Given the description of an element on the screen output the (x, y) to click on. 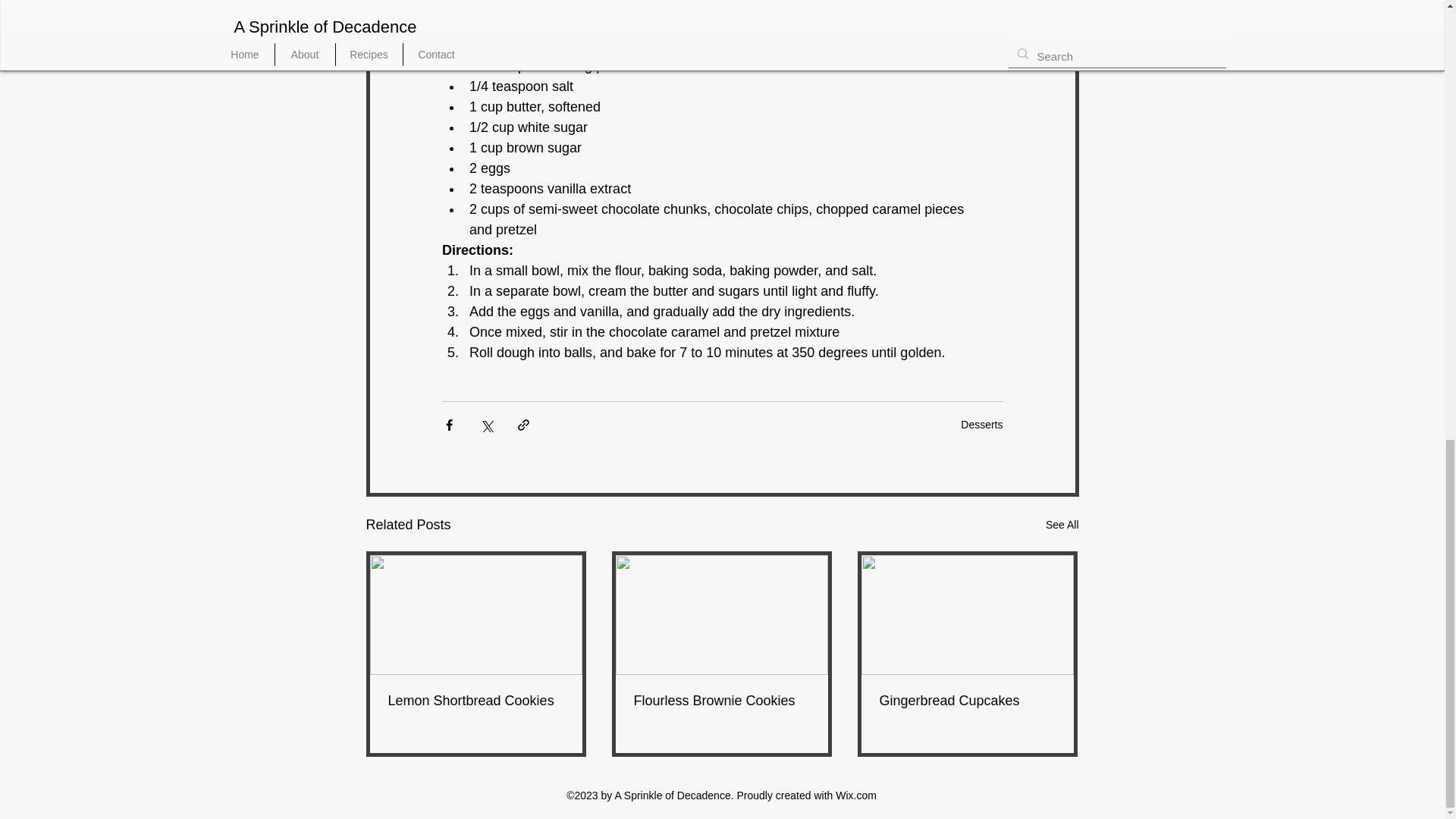
Lemon Shortbread Cookies (476, 700)
Gingerbread Cupcakes (967, 700)
See All (1061, 525)
Flourless Brownie Cookies (721, 700)
Desserts (981, 424)
